Given the description of an element on the screen output the (x, y) to click on. 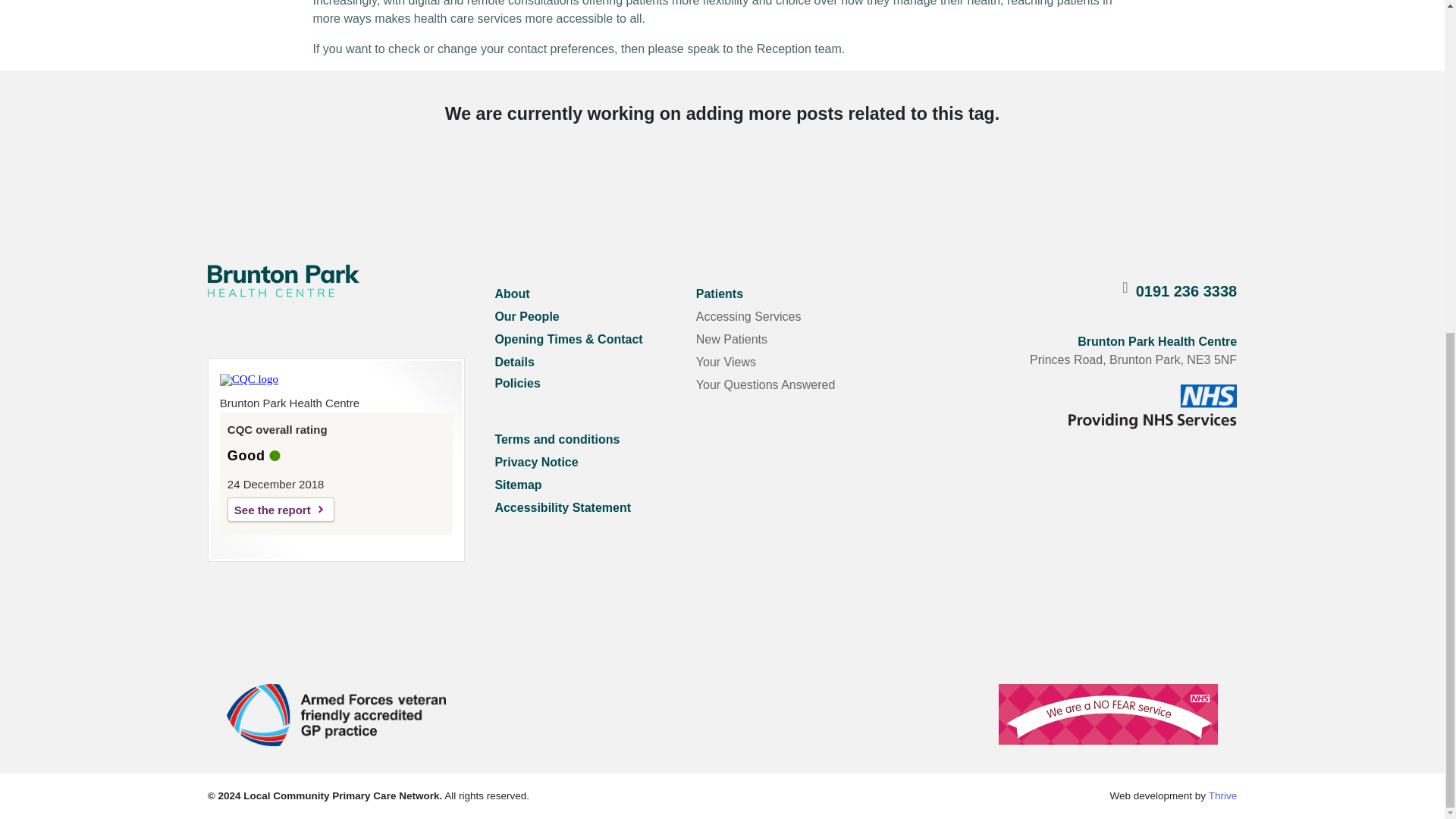
CQC Logo (248, 378)
Brunton Park Health Centre (283, 280)
See the report (280, 509)
Brunton Park Health Centre (336, 714)
Call 0191 236 3338 (1185, 291)
